Given the description of an element on the screen output the (x, y) to click on. 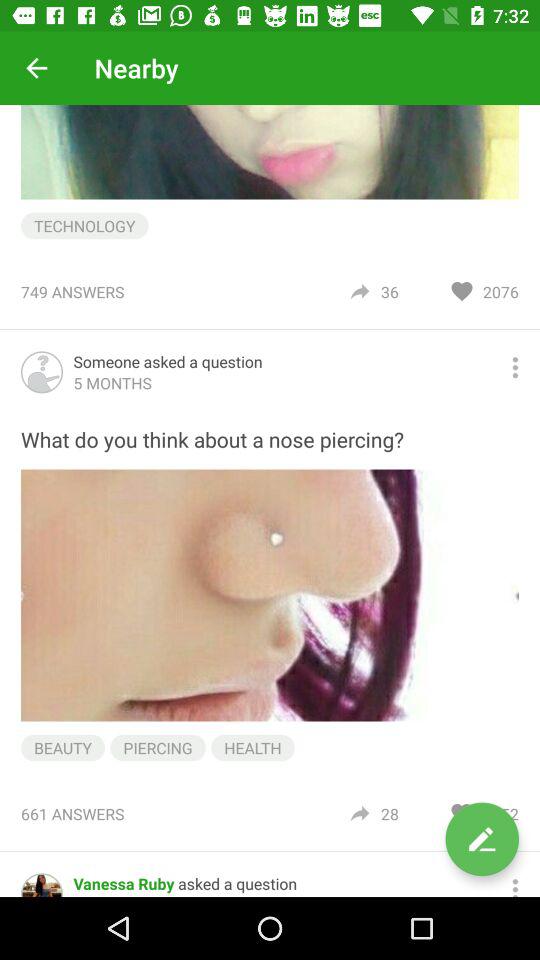
launch the app to the left of nearby (36, 68)
